Given the description of an element on the screen output the (x, y) to click on. 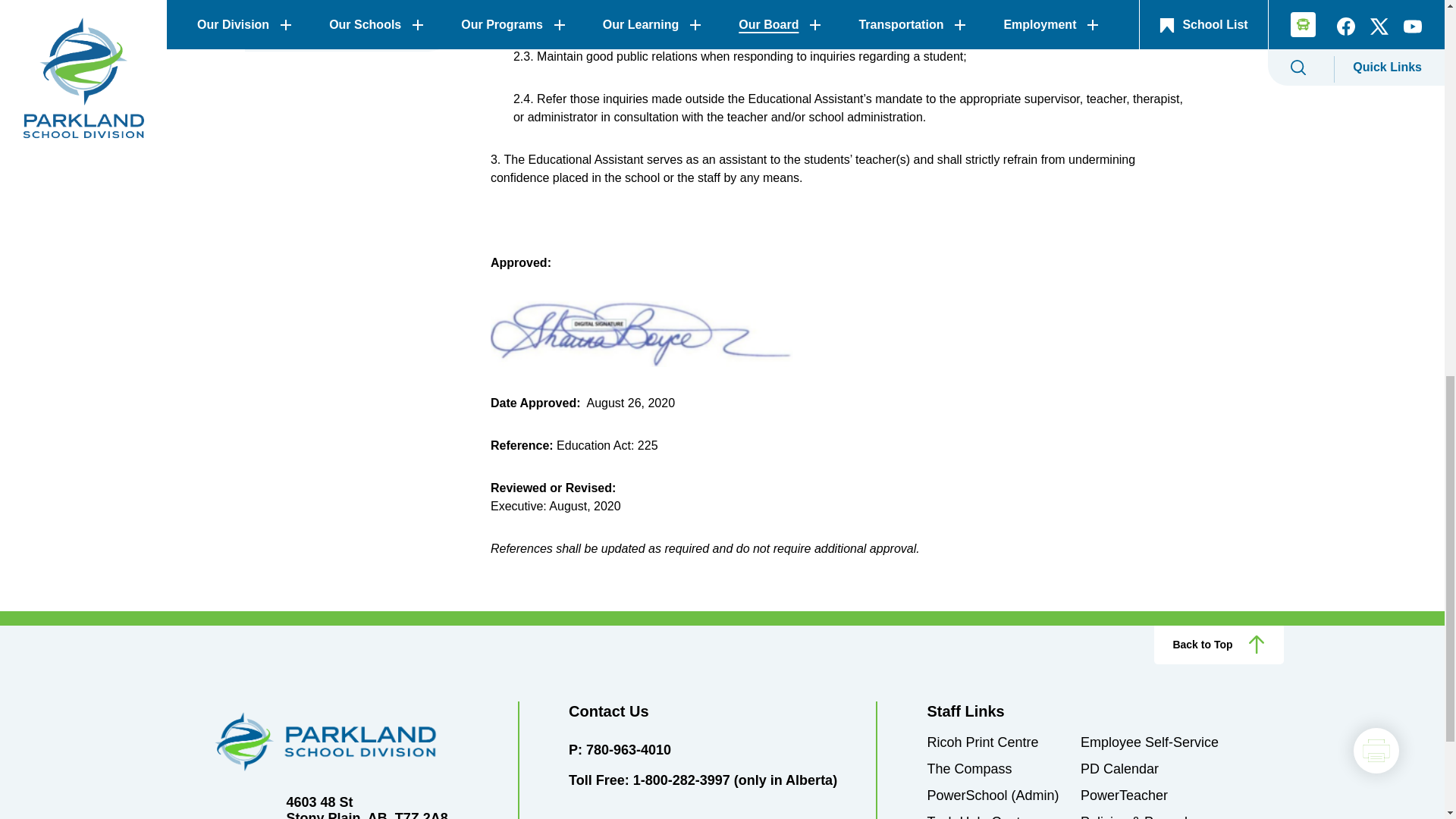
The Compass (968, 768)
Ricoh Print Centre (982, 742)
Employee Self-Service (1149, 742)
Parkland School Division (348, 741)
